Given the description of an element on the screen output the (x, y) to click on. 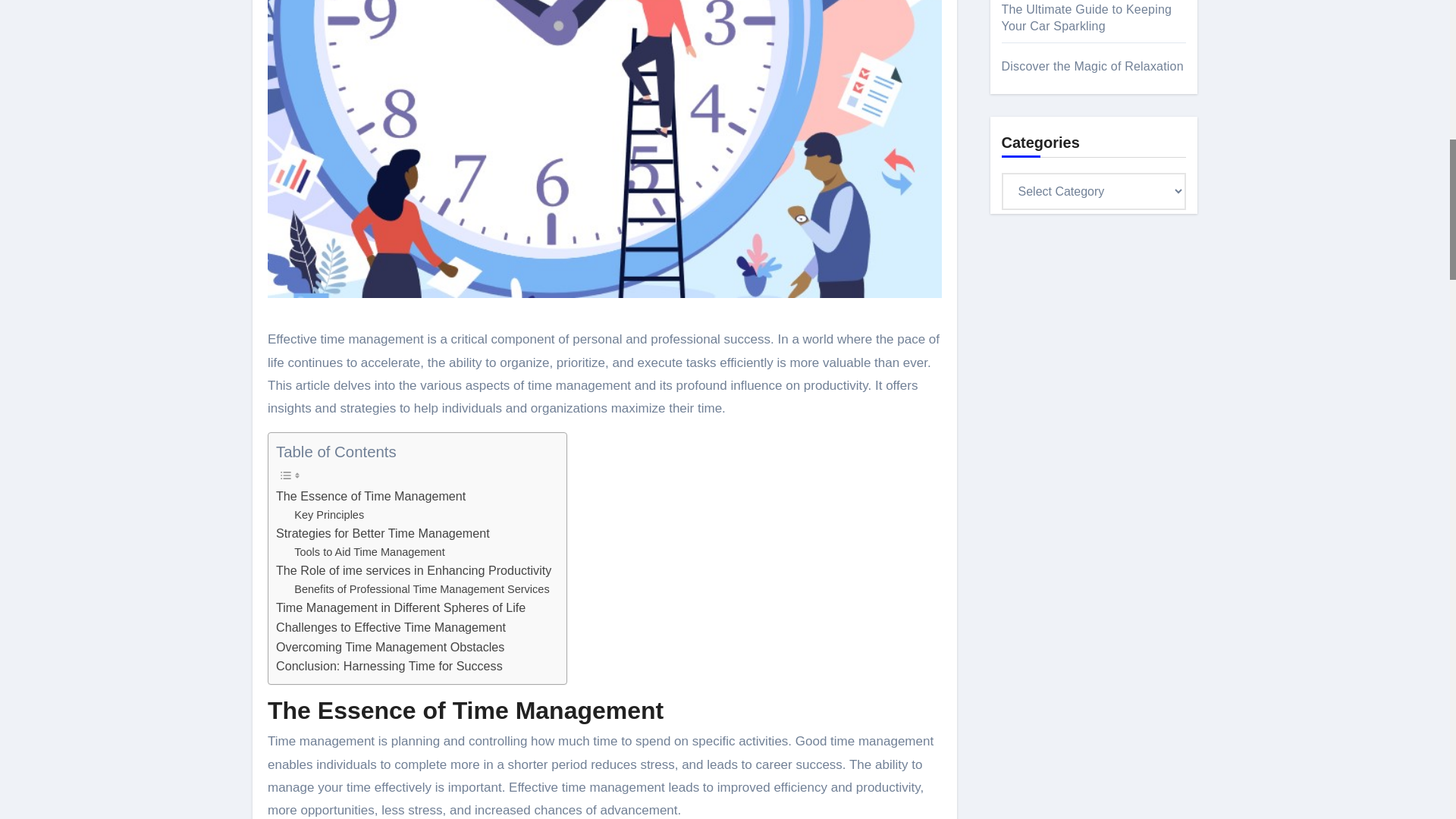
Overcoming Time Management Obstacles (389, 647)
Strategies for Better Time Management (382, 533)
Key Principles (329, 515)
Benefits of Professional Time Management Services (421, 589)
Challenges to Effective Time Management (390, 628)
Tools to Aid Time Management (369, 552)
The Essence of Time Management (370, 496)
Tools to Aid Time Management (369, 552)
Benefits of Professional Time Management Services (421, 589)
Key Principles (329, 515)
